Given the description of an element on the screen output the (x, y) to click on. 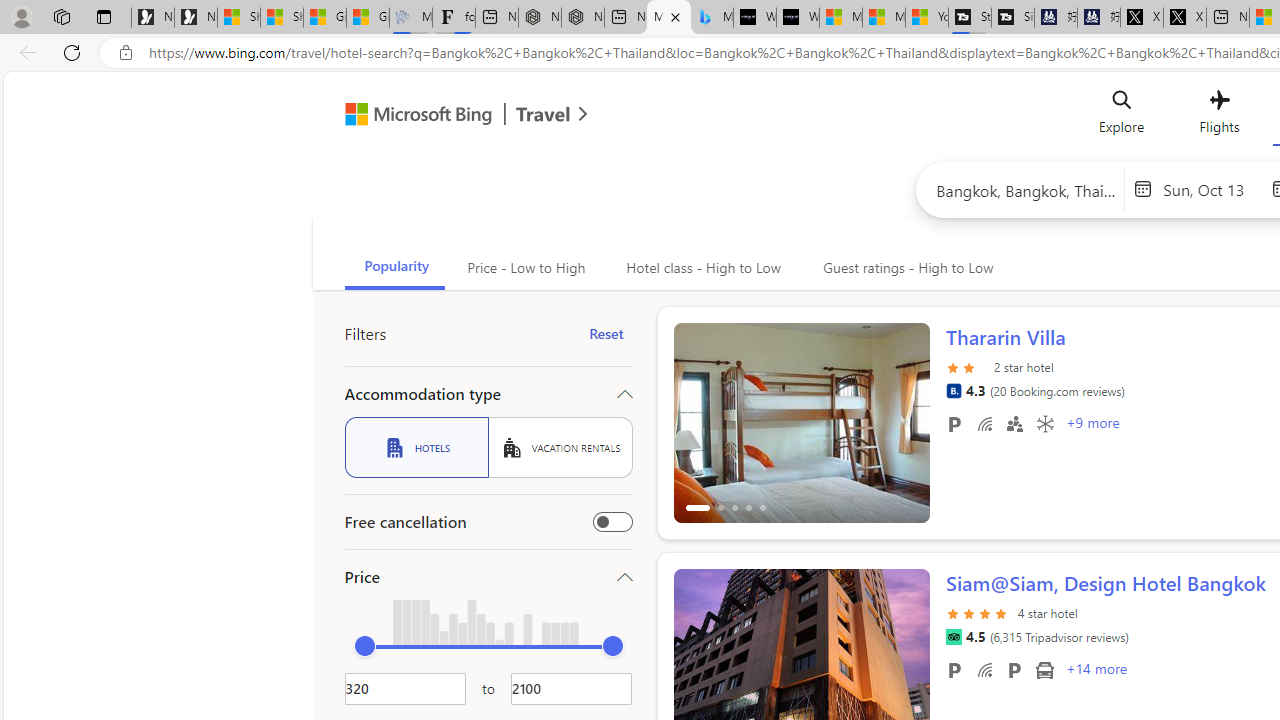
Class: msft-travel-logo (543, 114)
Microsoft Bing Travel - Shangri-La Hotel Bangkok (712, 17)
AutomationID: TextField877 (571, 688)
Price (488, 576)
Flights (1218, 116)
HOTELS (416, 447)
Air conditioning (1044, 423)
Microsoft Bing Travel - Stays in Bangkok, Bangkok, Thailand (668, 17)
